Given the description of an element on the screen output the (x, y) to click on. 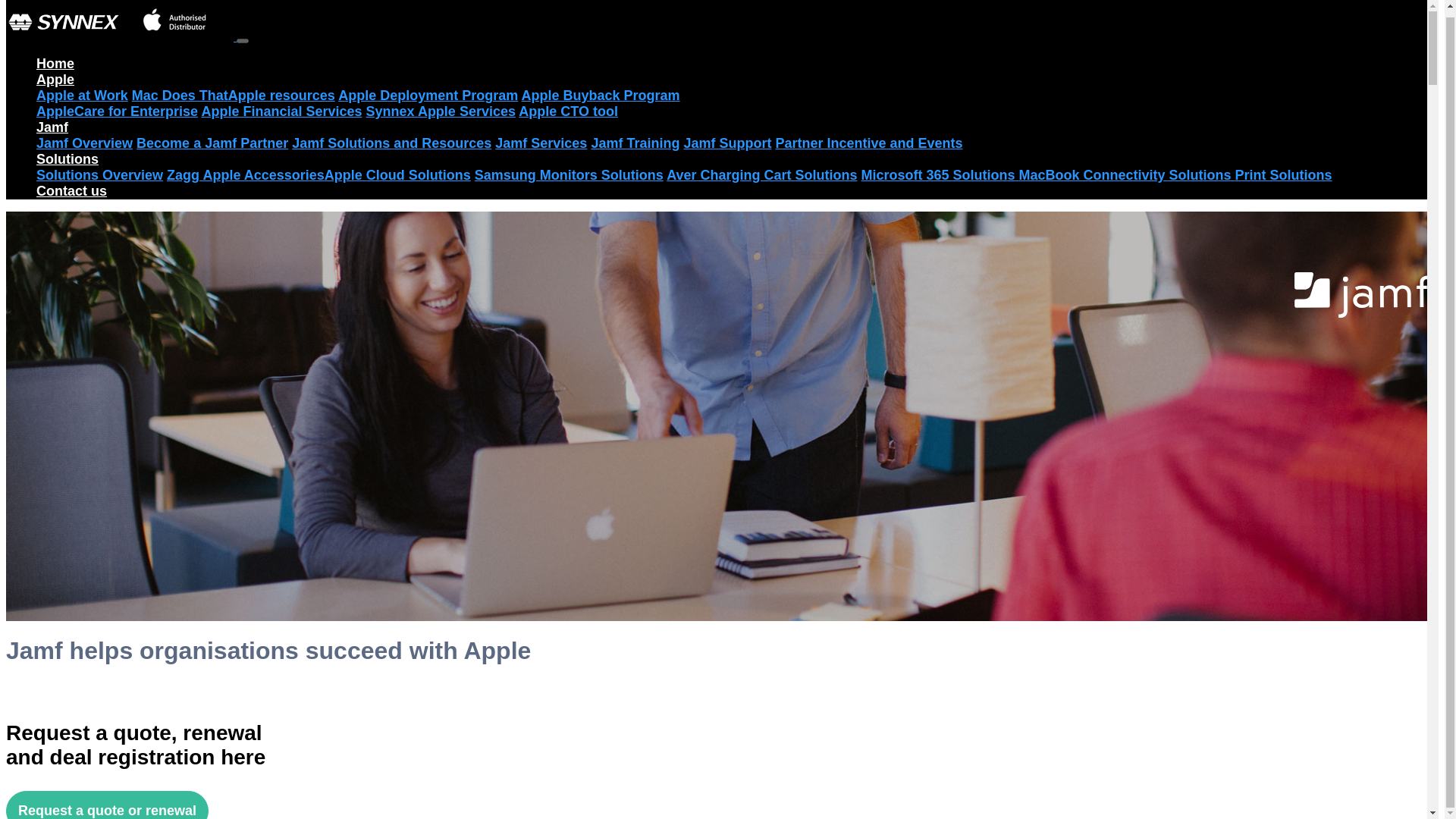
Apple Buyback Program (600, 95)
Microsoft 365 Solutions (940, 174)
Synnex Apple Services (440, 111)
Apple CTO tool (567, 111)
AppleCare for Enterprise (117, 111)
Jamf Support (726, 142)
Partner Incentive and Events (868, 142)
MacBook Connectivity Solutions (1126, 174)
Jamf (52, 127)
Apple (55, 79)
